Given the description of an element on the screen output the (x, y) to click on. 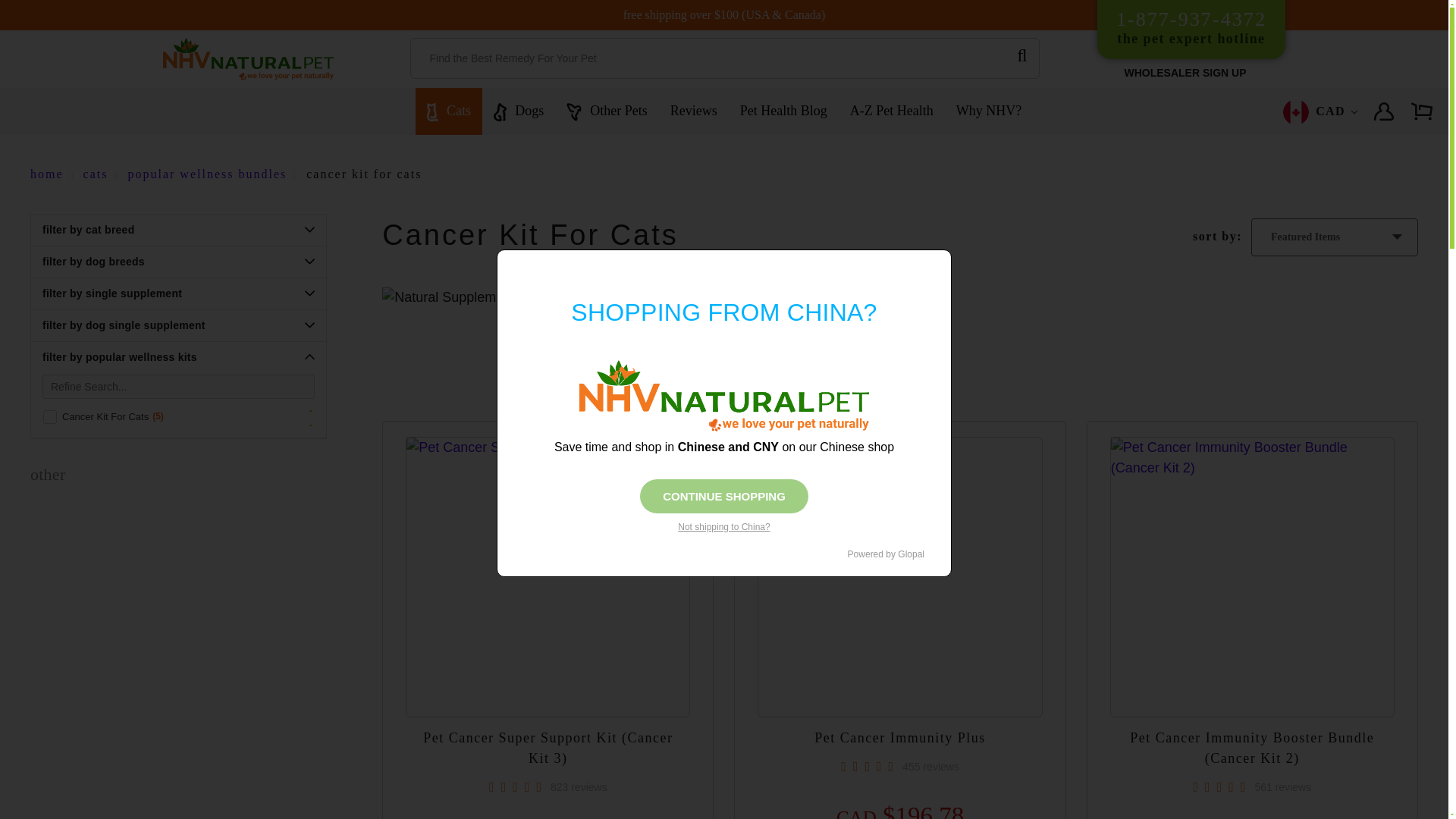
My Account (1191, 29)
NHV Natural Pet (1375, 114)
